Given the description of an element on the screen output the (x, y) to click on. 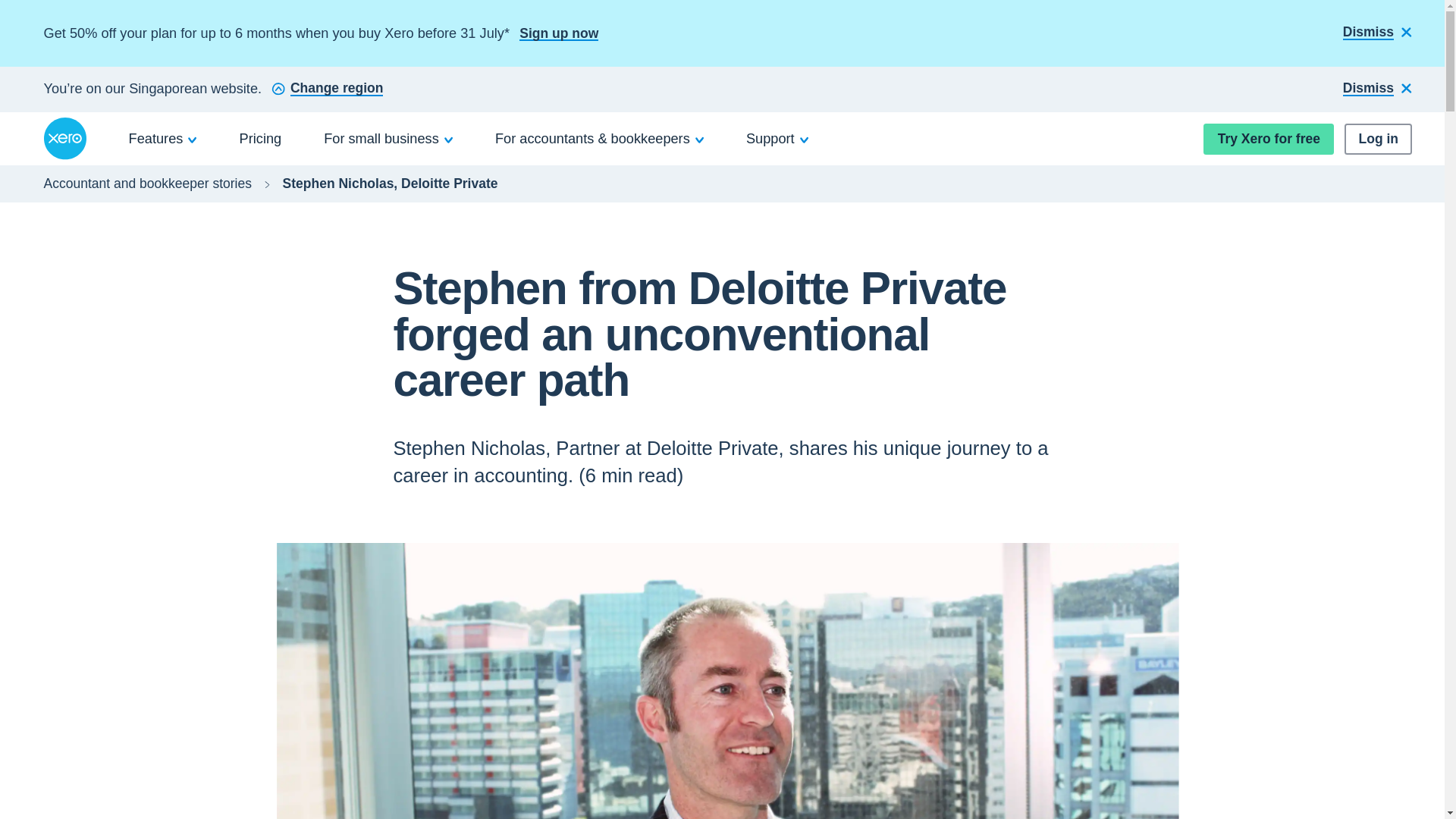
Dismiss (1377, 33)
For small business (388, 138)
Features (162, 138)
Dismiss (1377, 89)
Sign up now (558, 32)
Stephen Nicholas, Deloitte Private (389, 183)
Change region (326, 89)
Log in (1377, 138)
Support (777, 138)
Accountant and bookkeeper stories (147, 183)
Try Xero for free (1268, 138)
Pricing (260, 138)
